Given the description of an element on the screen output the (x, y) to click on. 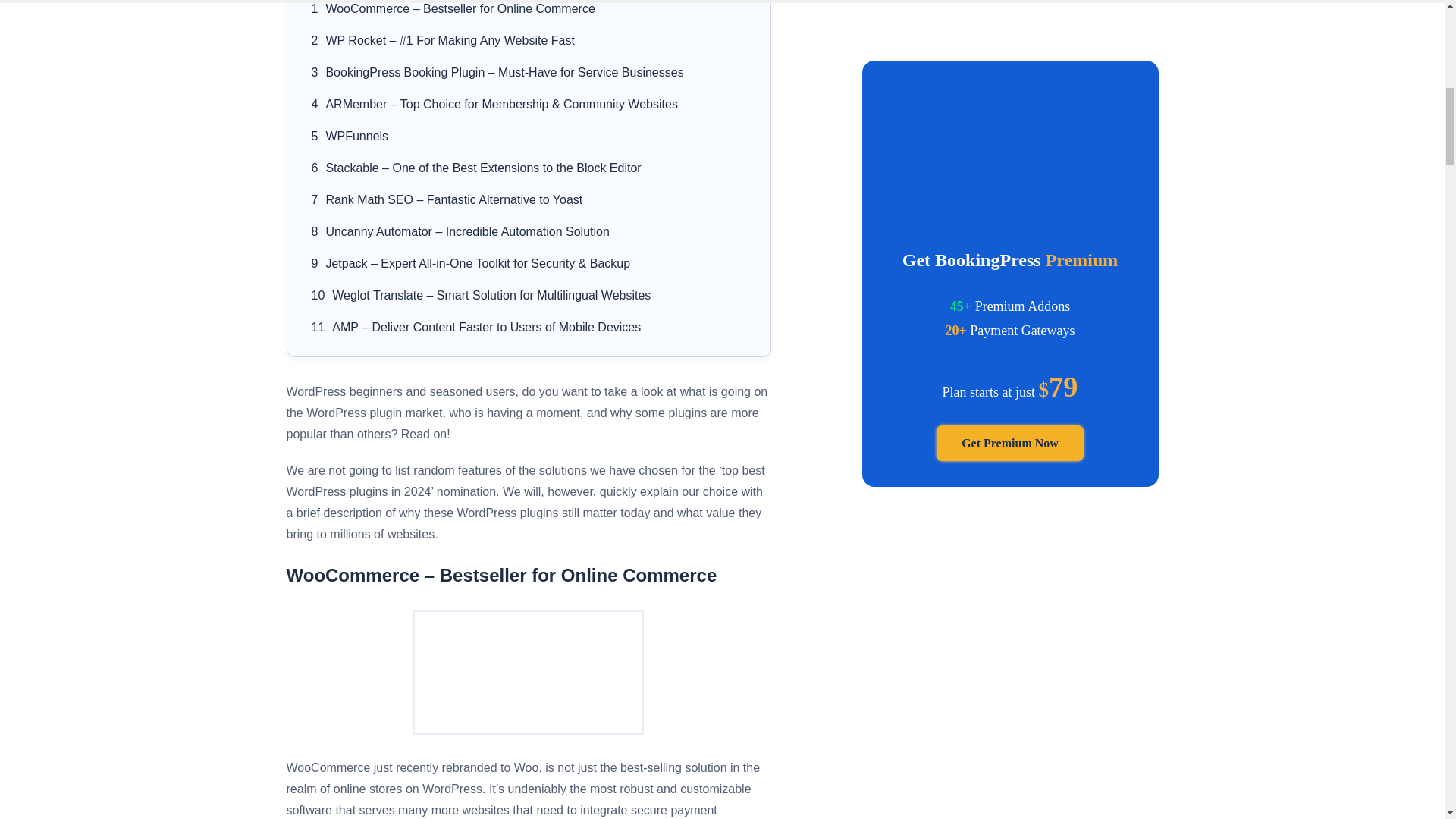
WPFunnels (356, 135)
